Given the description of an element on the screen output the (x, y) to click on. 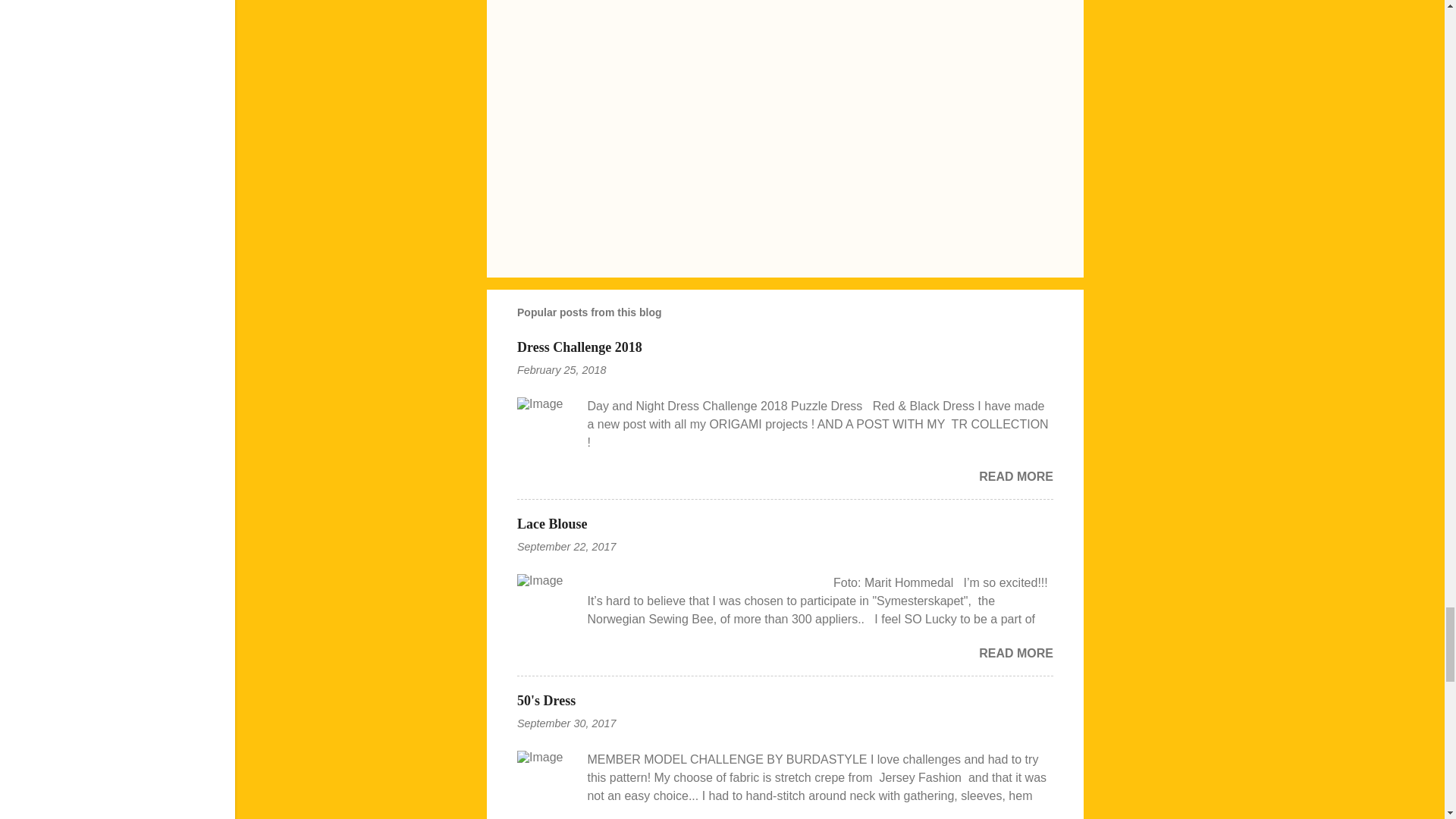
February 25, 2018 (561, 369)
READ MORE (1015, 476)
Dress Challenge 2018 (579, 346)
